Given the description of an element on the screen output the (x, y) to click on. 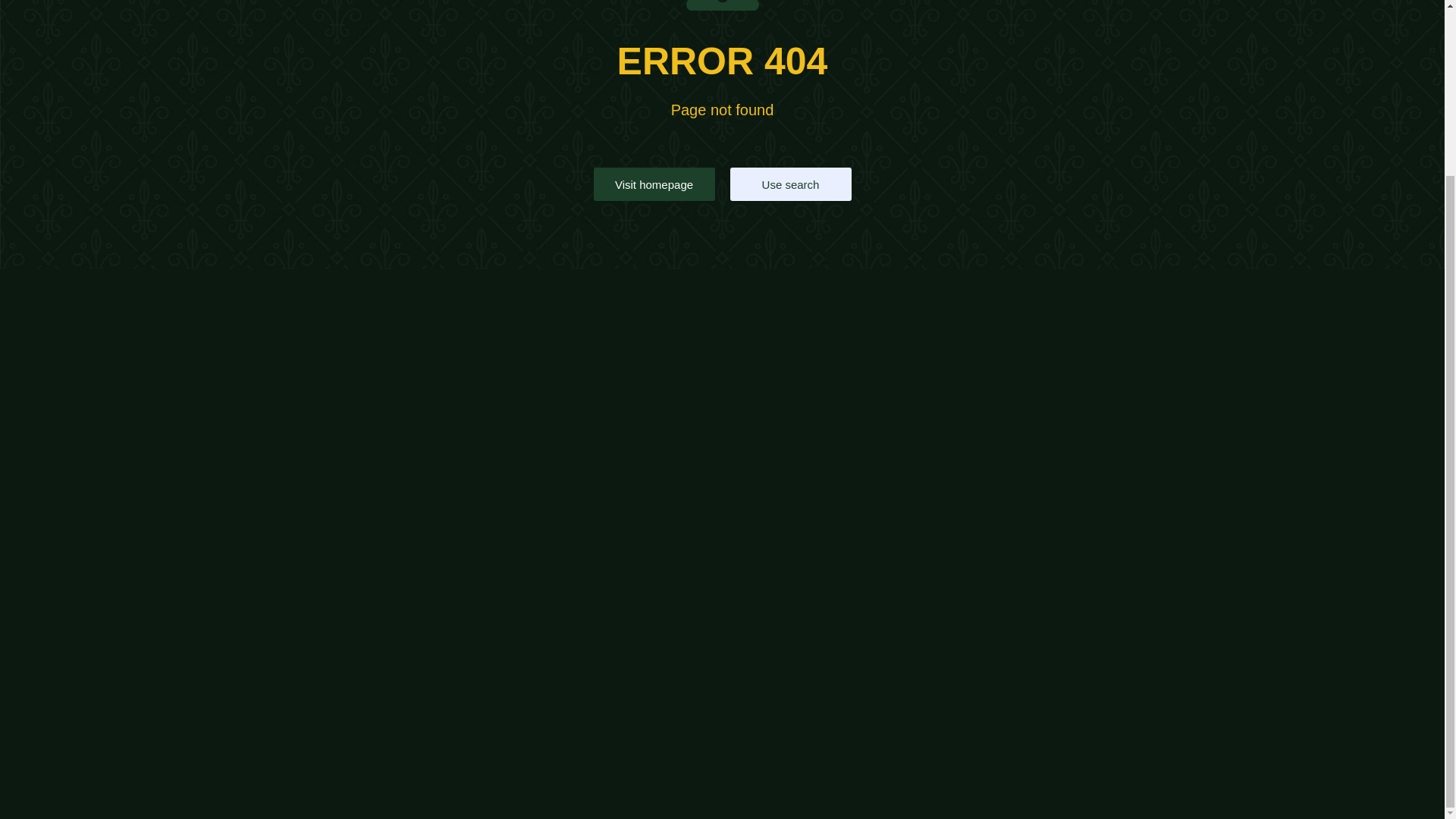
Use search (789, 183)
Visit homepage (653, 183)
